Given the description of an element on the screen output the (x, y) to click on. 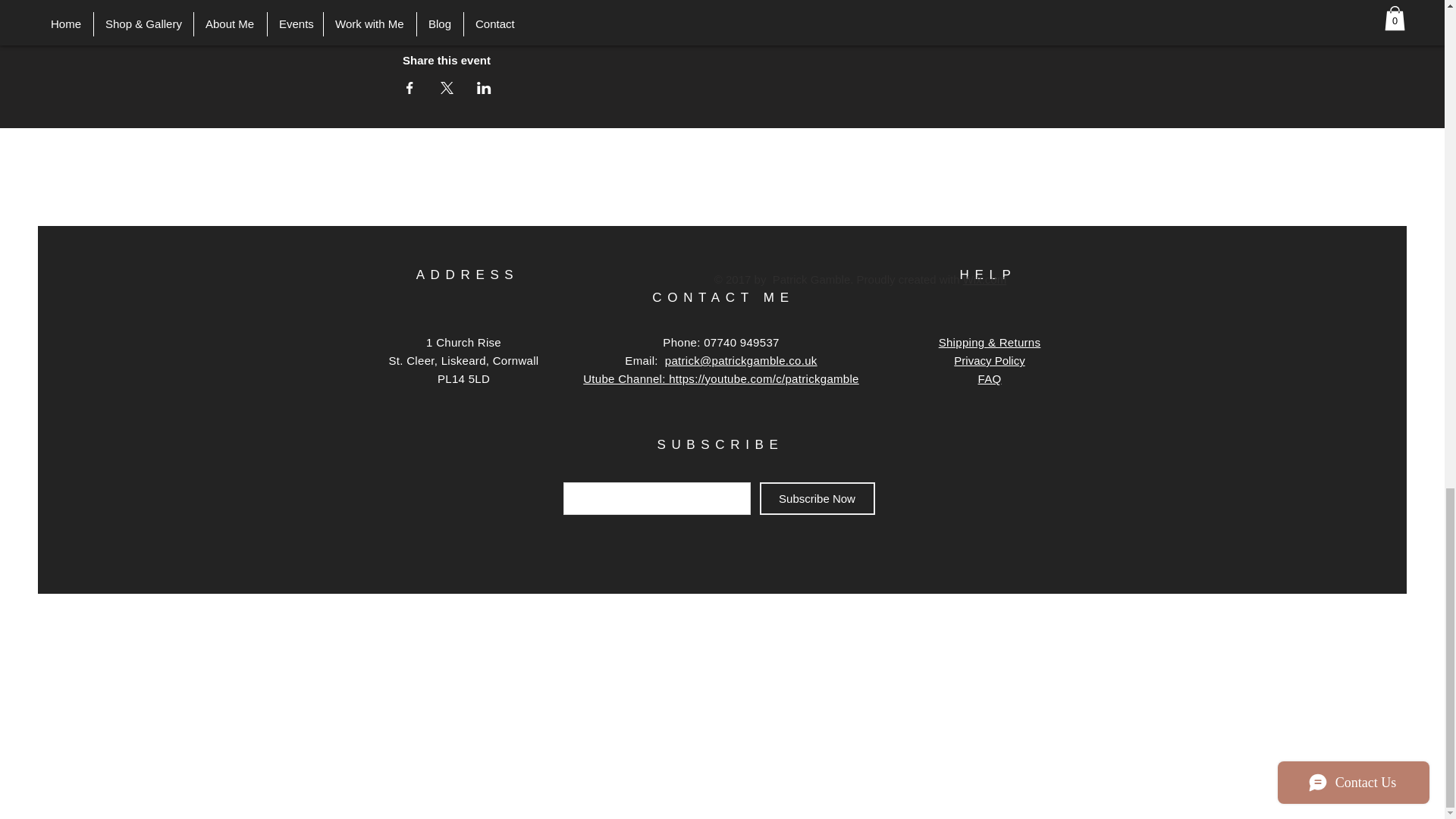
Subscribe Now (817, 498)
Privacy Policy (989, 359)
FAQ (989, 378)
Wix.com (984, 278)
